Given the description of an element on the screen output the (x, y) to click on. 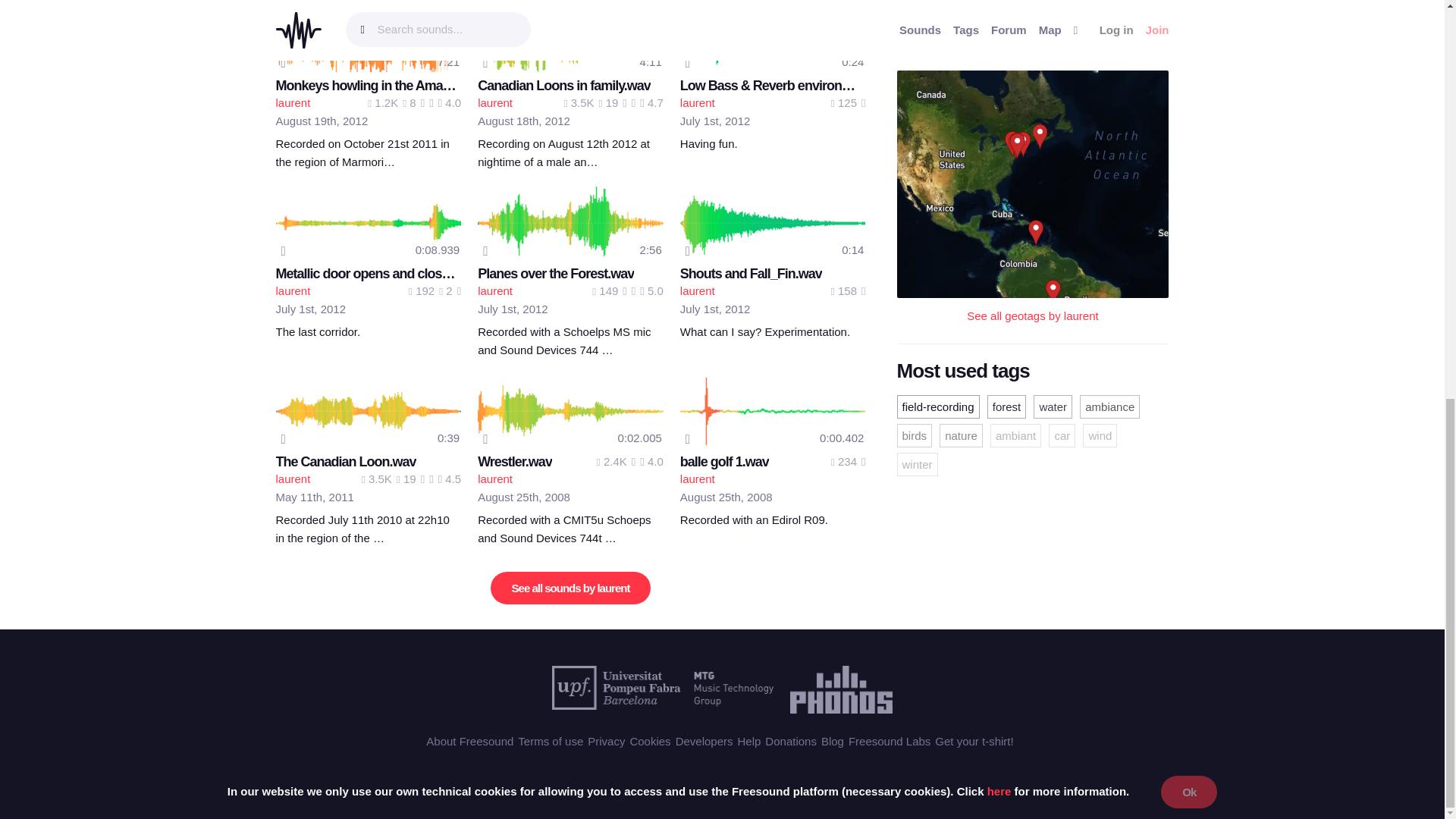
Ok (1188, 16)
here (999, 15)
